Given the description of an element on the screen output the (x, y) to click on. 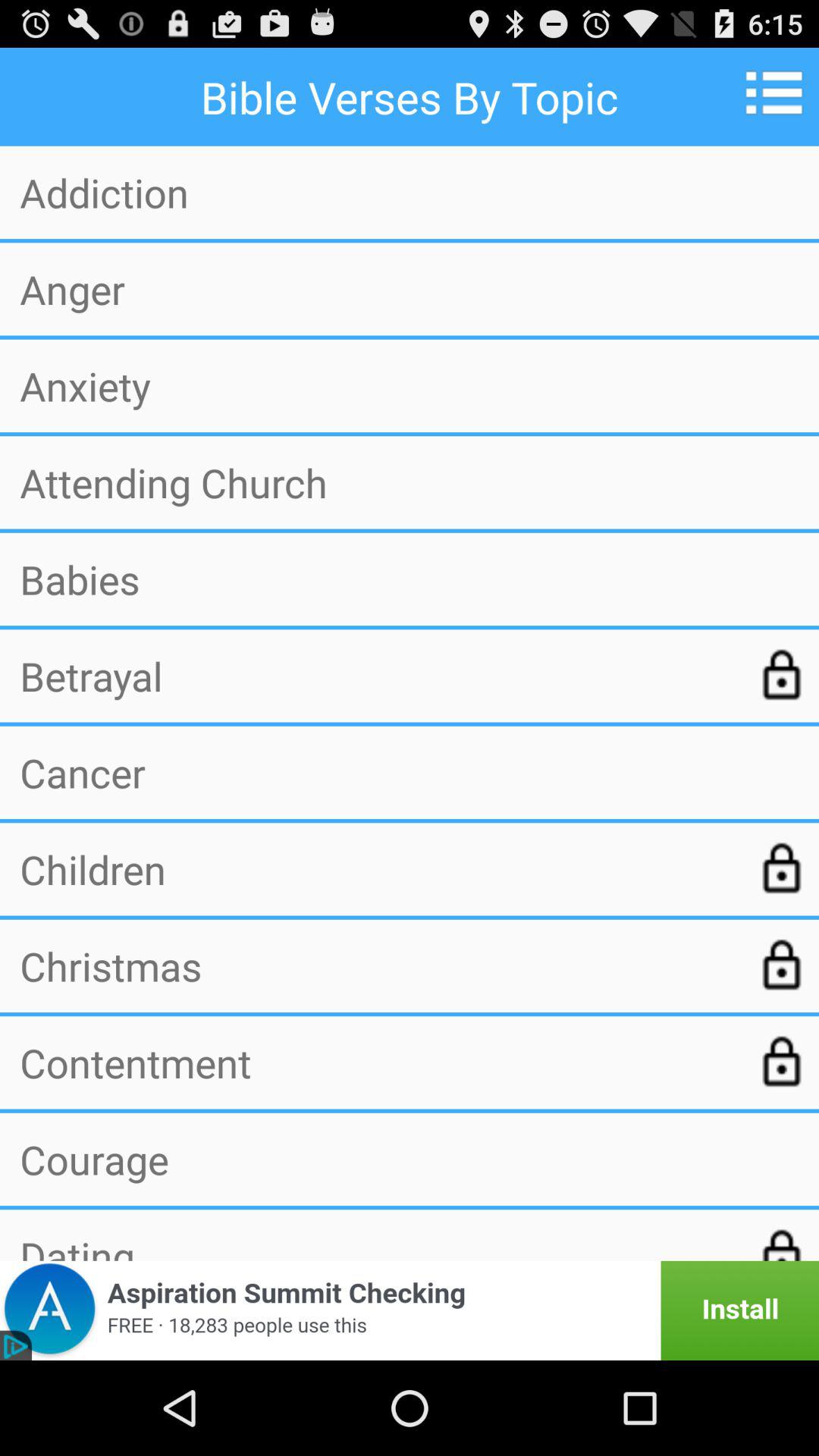
press the betrayal app (376, 675)
